Given the description of an element on the screen output the (x, y) to click on. 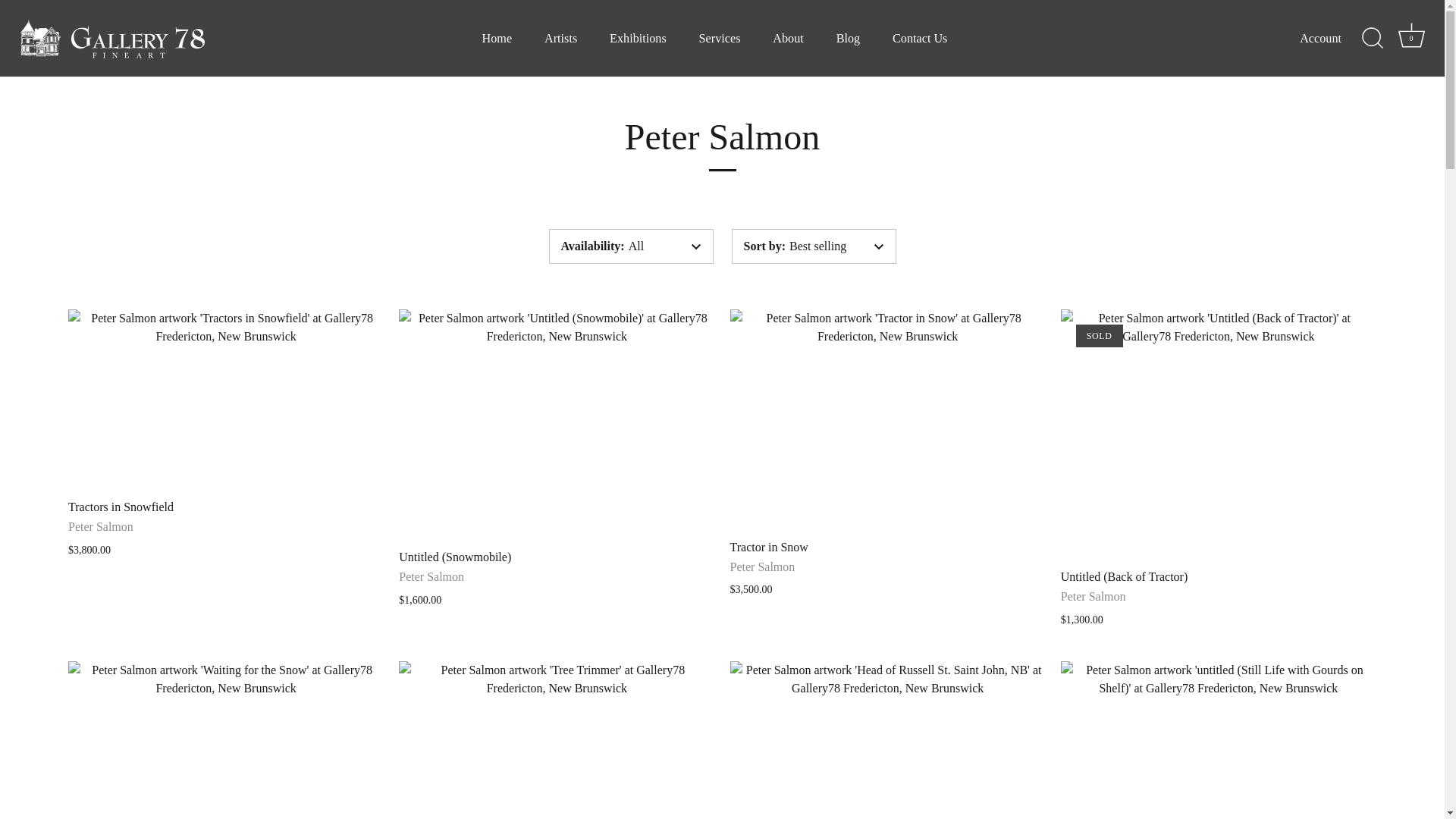
Contact Us (919, 37)
Home (496, 37)
Account (1411, 37)
Artists (1334, 37)
Blog (560, 37)
Exhibitions (848, 37)
Services (638, 37)
Cart (719, 37)
About (1411, 34)
